Given the description of an element on the screen output the (x, y) to click on. 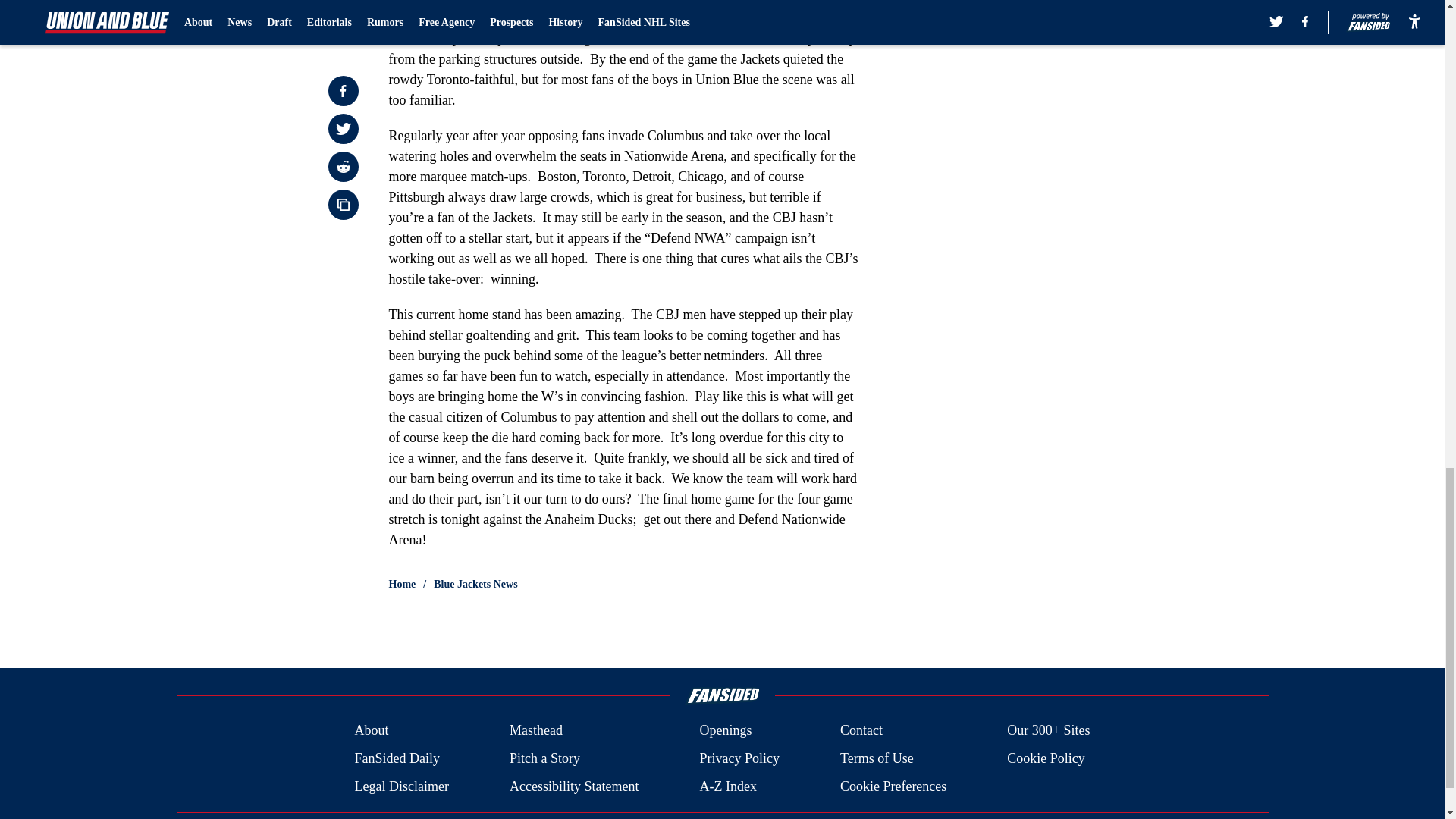
Blue Jackets News (474, 584)
Cookie Preferences (893, 786)
Contact (861, 730)
Terms of Use (877, 758)
Home (401, 584)
FanSided Daily (396, 758)
Openings (724, 730)
Legal Disclaimer (400, 786)
A-Z Index (726, 786)
Accessibility Statement (574, 786)
About (370, 730)
Cookie Policy (1045, 758)
Pitch a Story (544, 758)
Privacy Policy (738, 758)
Masthead (535, 730)
